Given the description of an element on the screen output the (x, y) to click on. 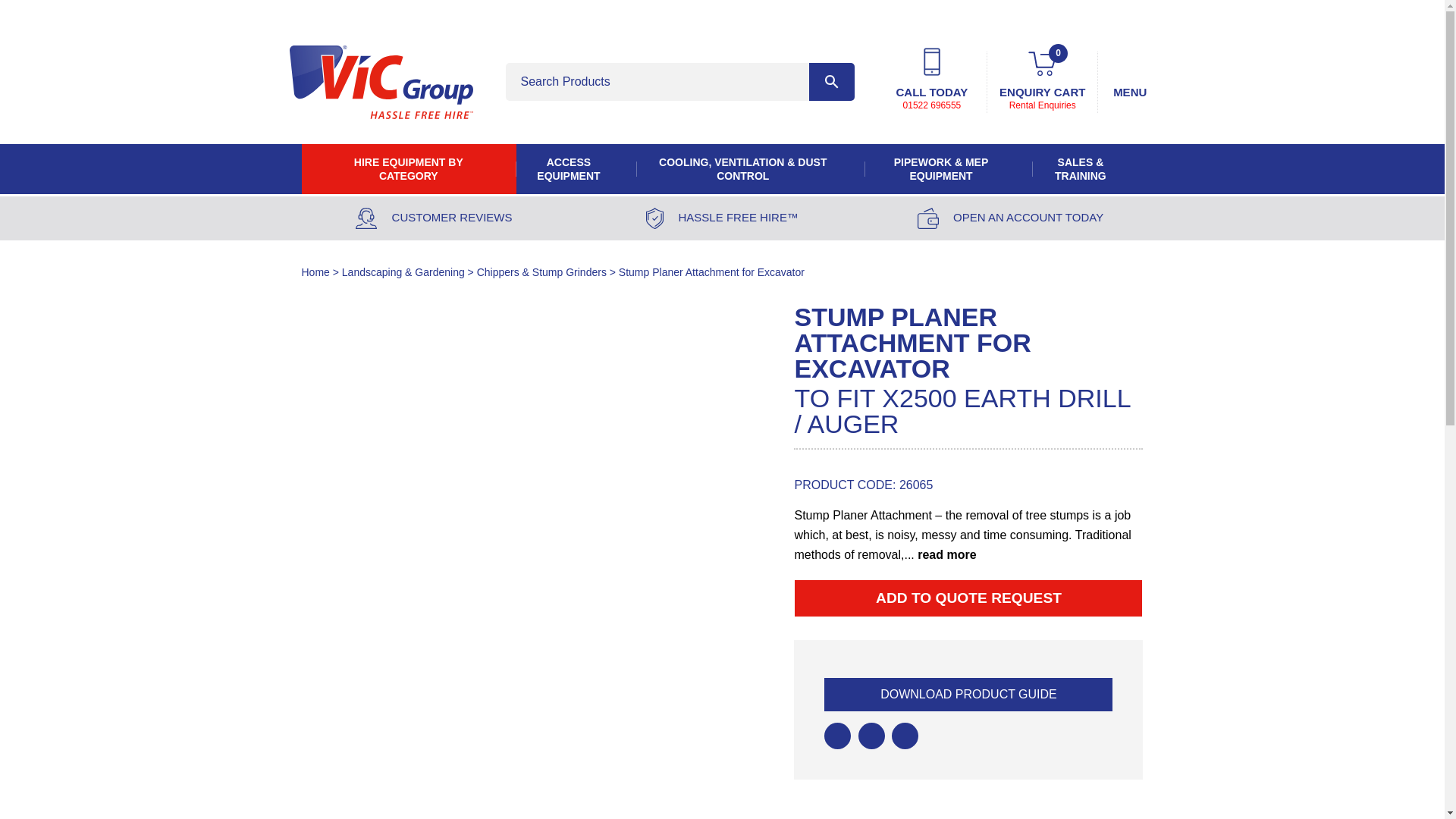
Hire Equipment by category (408, 169)
